Given the description of an element on the screen output the (x, y) to click on. 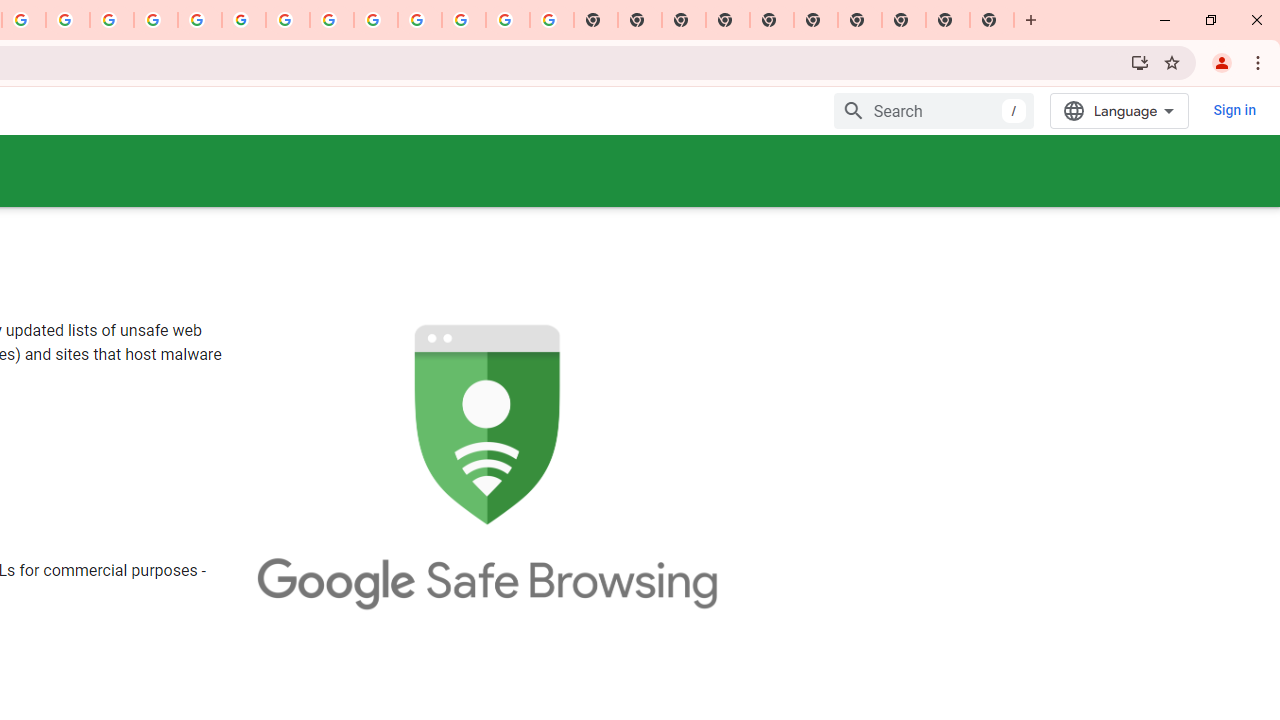
Install Google Developers (1139, 62)
Google Images (551, 20)
New Tab (991, 20)
Privacy Help Center - Policies Help (155, 20)
Privacy Help Center - Policies Help (111, 20)
